Given the description of an element on the screen output the (x, y) to click on. 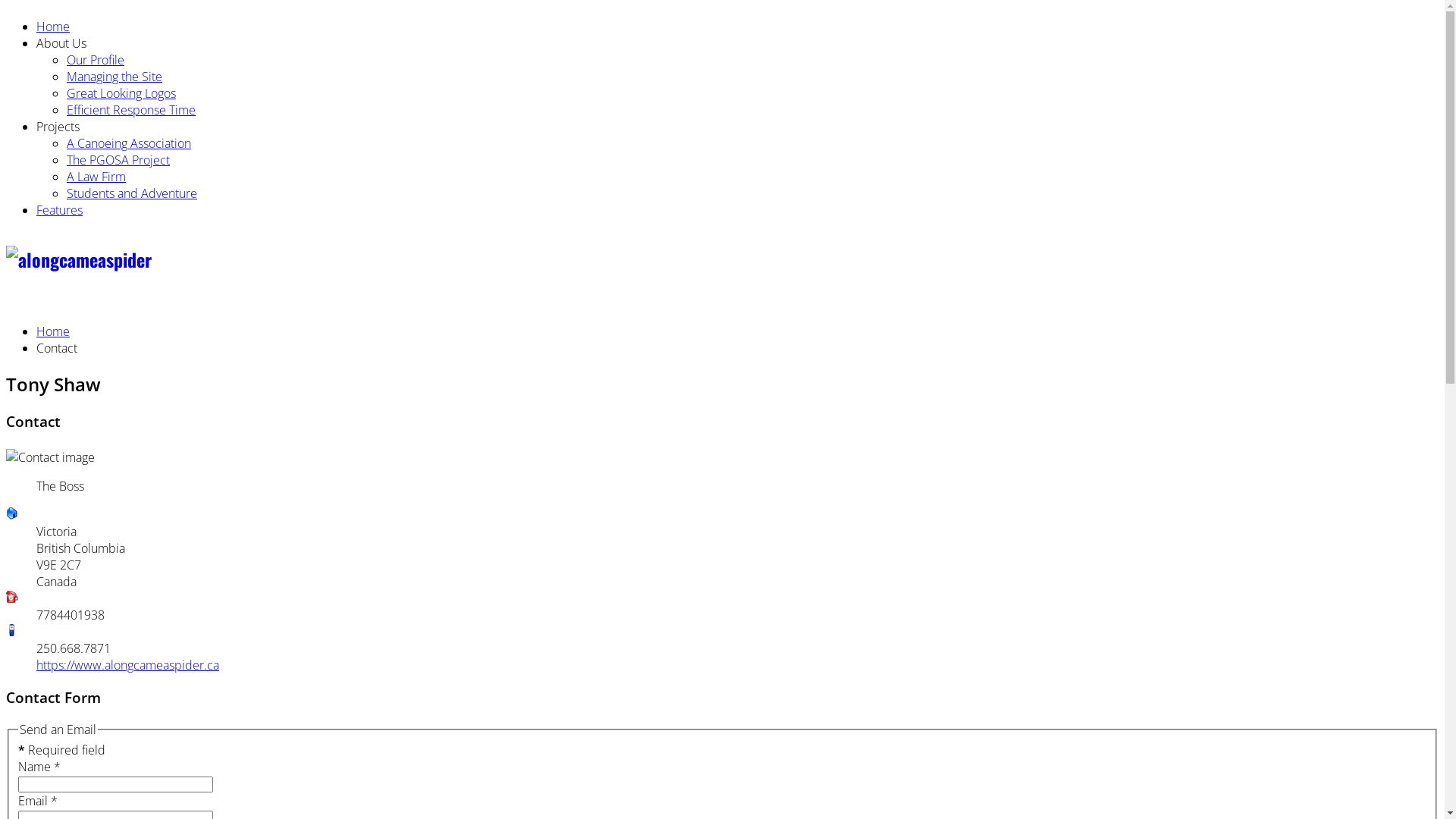
A Canoeing Association Element type: text (128, 142)
Features Element type: text (59, 209)
Home Element type: text (52, 331)
Efficient Response Time Element type: text (130, 109)
The PGOSA Project Element type: text (117, 159)
Our Profile Element type: text (95, 59)
Home Element type: text (52, 26)
Students and Adventure Element type: text (131, 193)
Managing the Site Element type: text (114, 76)
Great Looking Logos Element type: text (120, 92)
https://www.alongcameaspider.ca Element type: text (127, 664)
A Law Firm Element type: text (95, 176)
